Given the description of an element on the screen output the (x, y) to click on. 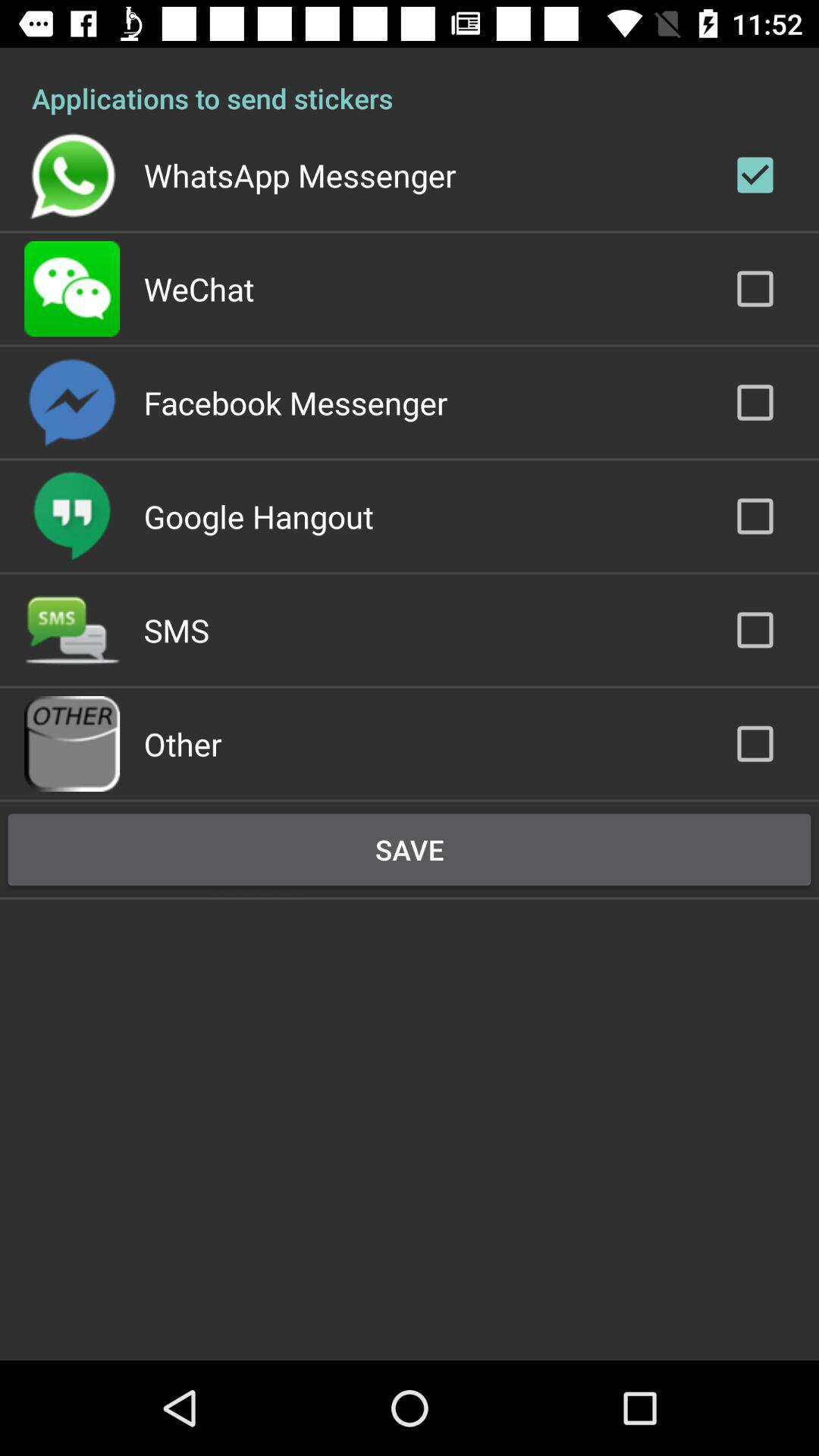
launch the icon below google hangout item (176, 629)
